Given the description of an element on the screen output the (x, y) to click on. 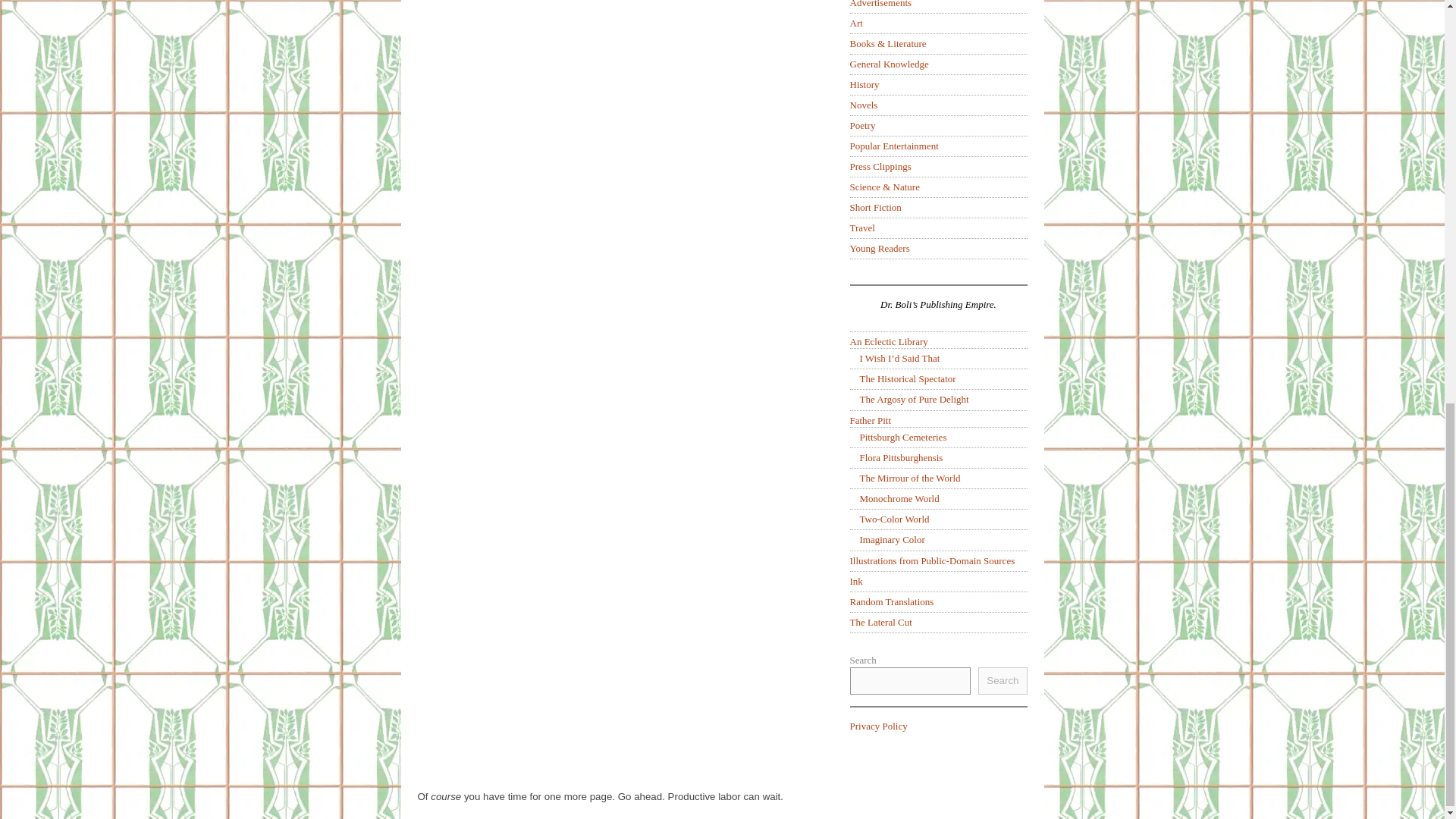
General Knowledge (888, 63)
Novels (862, 104)
The Argosy of Pure Delight (914, 398)
Imaginary Color (892, 539)
Illustrations from Public-Domain Sources (931, 560)
Monochrome World (899, 498)
The Historical Spectator (908, 378)
Young Readers (878, 247)
Search (1002, 680)
Pittsburgh Cemeteries (903, 437)
